Given the description of an element on the screen output the (x, y) to click on. 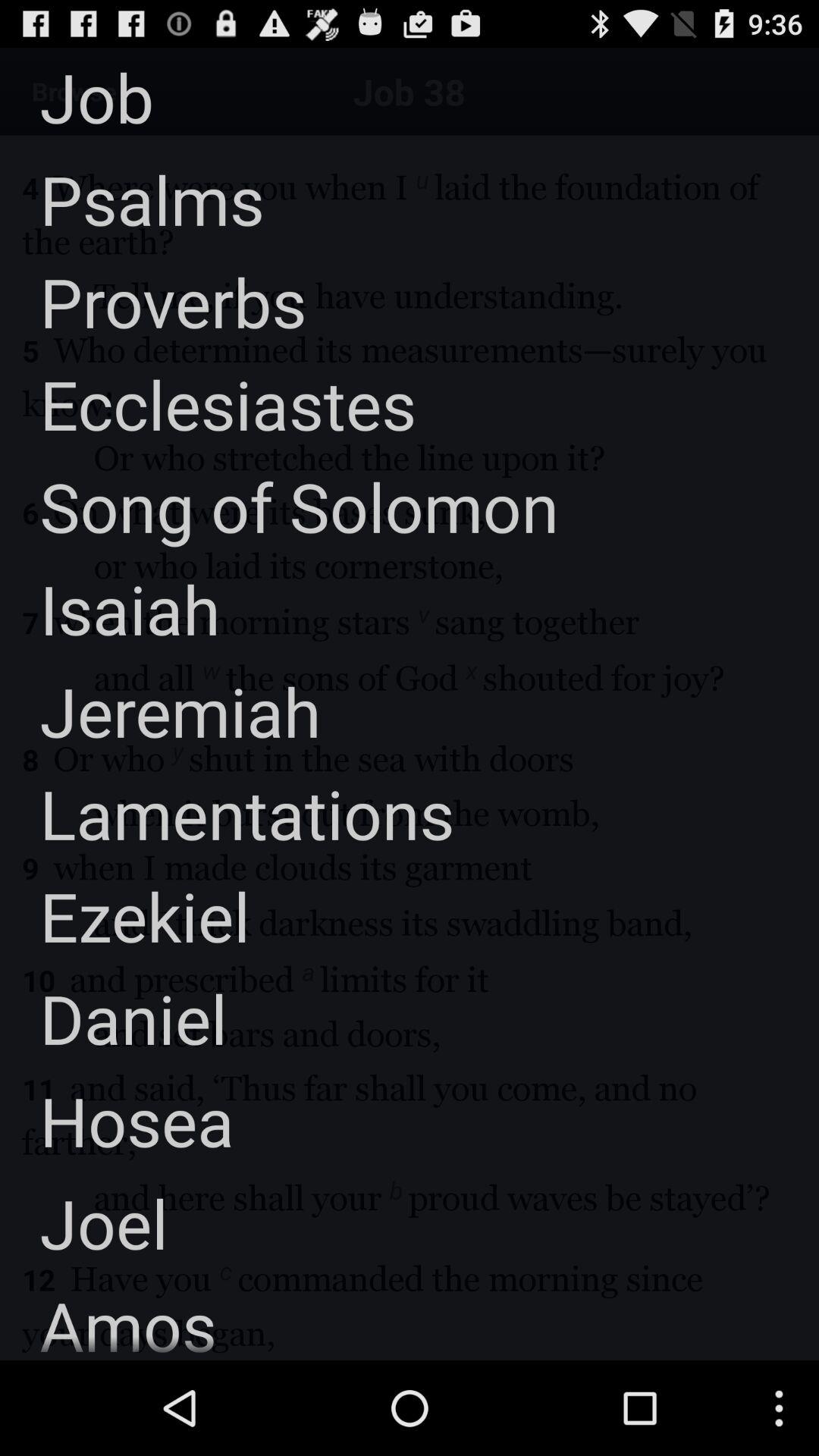
choose the app below the daniel (117, 1120)
